Given the description of an element on the screen output the (x, y) to click on. 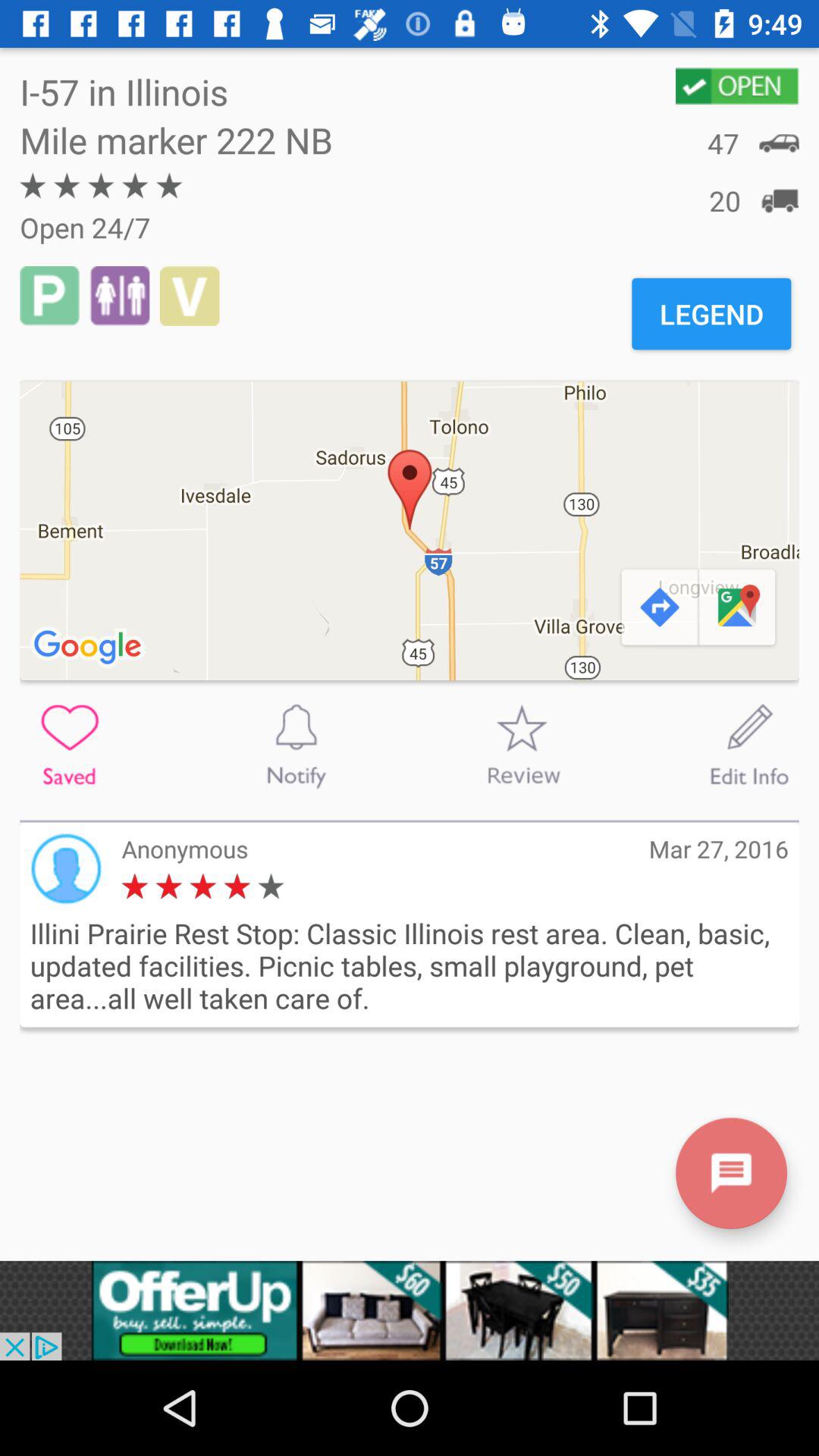
nitify me about this property (295, 744)
